Given the description of an element on the screen output the (x, y) to click on. 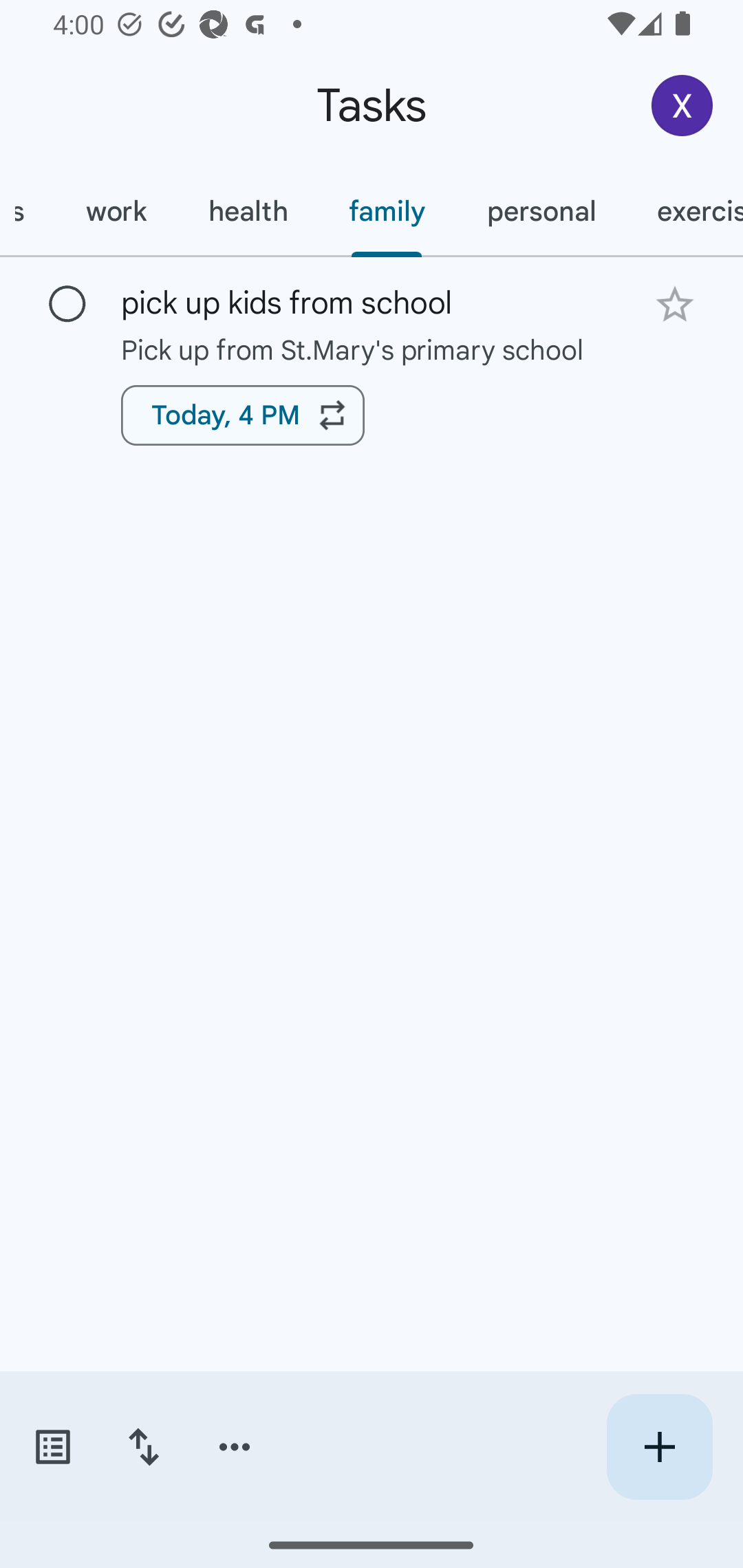
work (115, 211)
health (247, 211)
personal (541, 211)
exercise (684, 211)
Add star (674, 303)
Mark as complete (67, 304)
Pick up from St.Mary's primary school (371, 349)
Today, 4 PM (242, 415)
Switch task lists (52, 1447)
Create new task (659, 1446)
Change sort order (143, 1446)
More options (234, 1446)
